Given the description of an element on the screen output the (x, y) to click on. 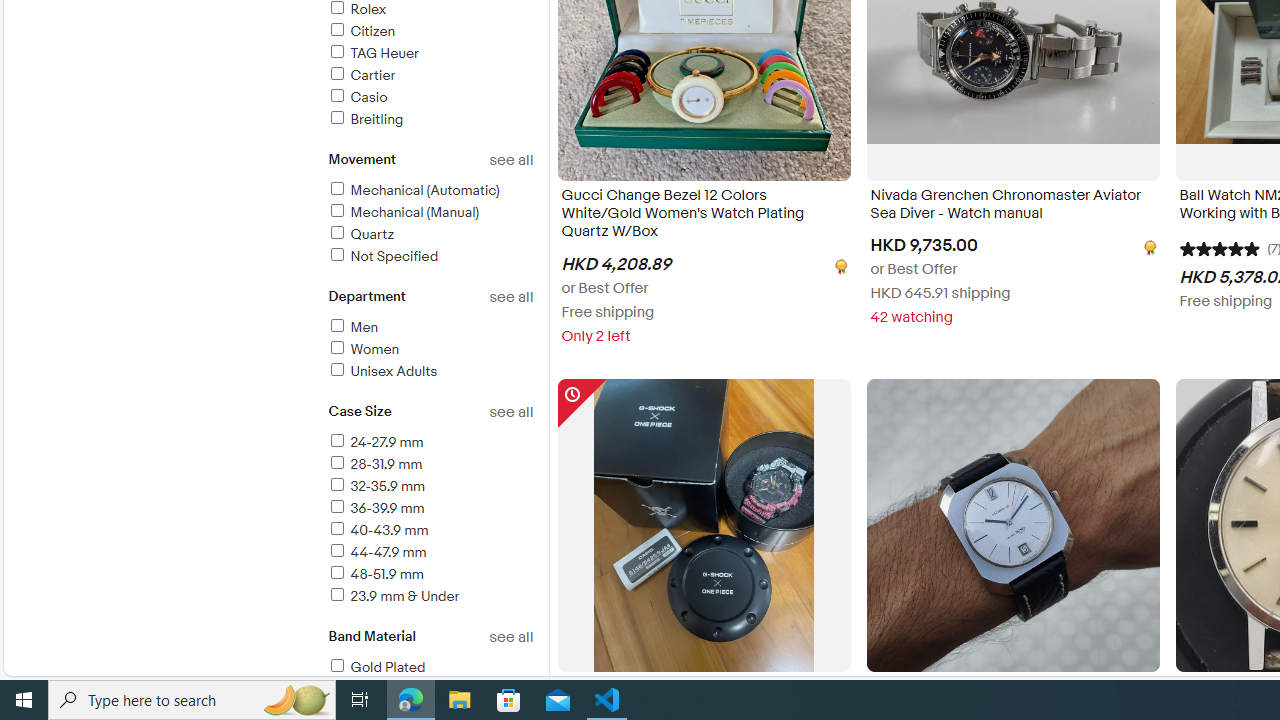
23.9 mm & Under (392, 596)
Gold Plated (430, 668)
Quartz (360, 234)
28-31.9 mm (430, 465)
See all movement refinements (510, 160)
Departmentsee allMenWomenUnisex Adults (430, 345)
Mechanical (Manual) (430, 213)
32-35.9 mm (376, 486)
Unisex Adults (430, 372)
32-35.9 mm (430, 487)
Women (430, 350)
Cartier (360, 75)
Casio (430, 98)
TAG Heuer (430, 54)
